Given the description of an element on the screen output the (x, y) to click on. 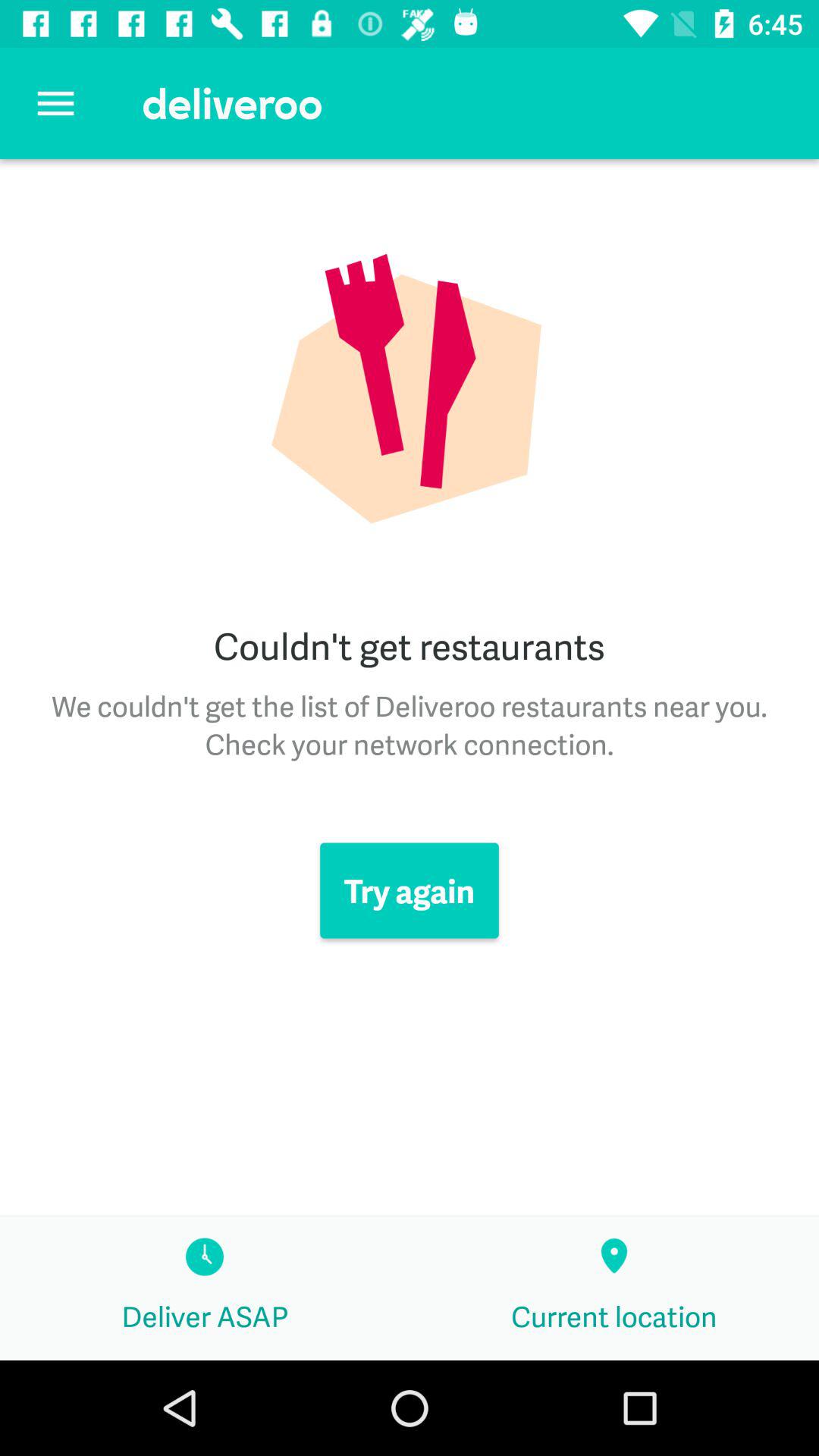
click deliver asap icon (204, 1288)
